Given the description of an element on the screen output the (x, y) to click on. 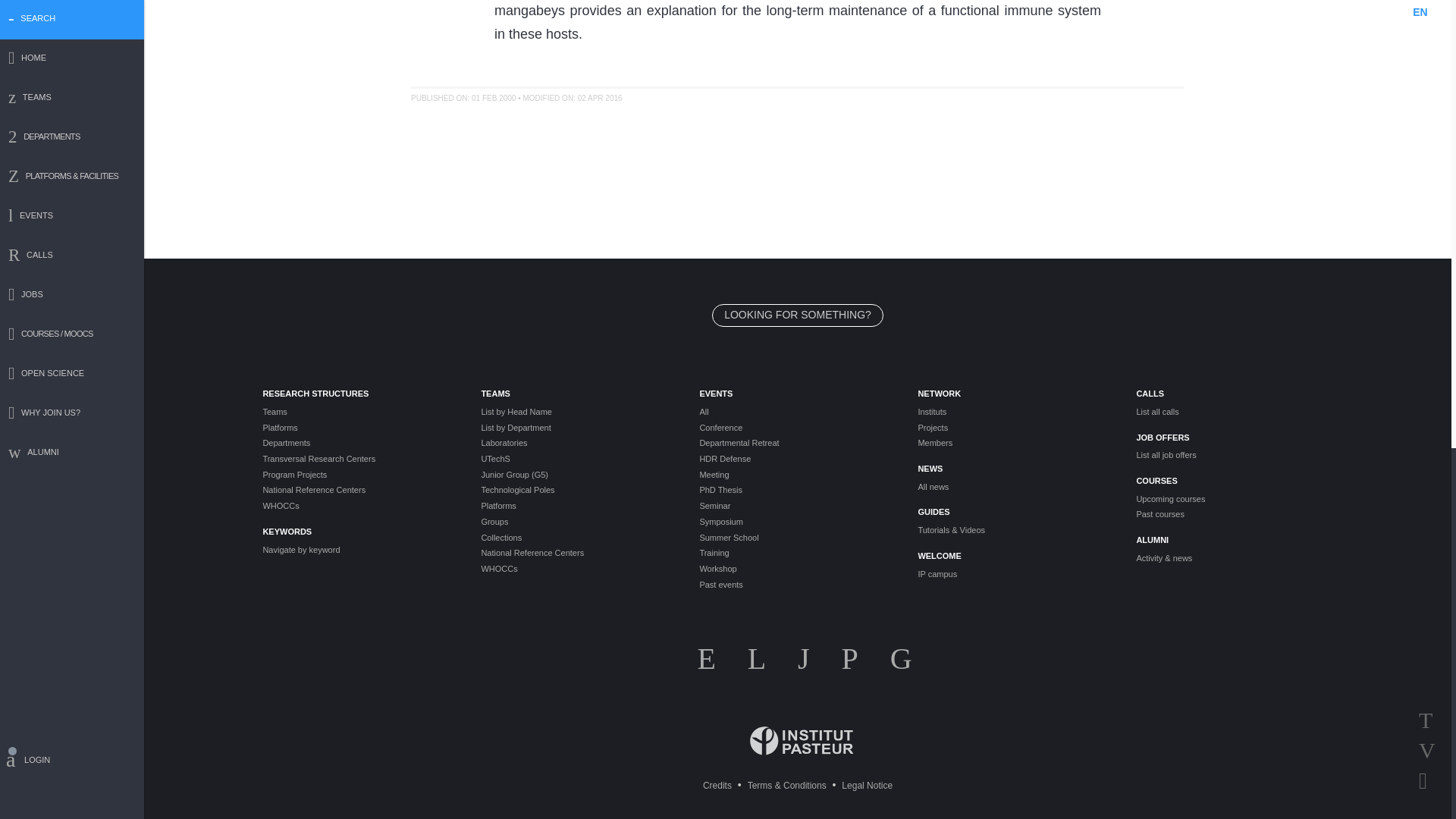
Teams (360, 411)
Departments (360, 442)
Platforms (360, 427)
